Given the description of an element on the screen output the (x, y) to click on. 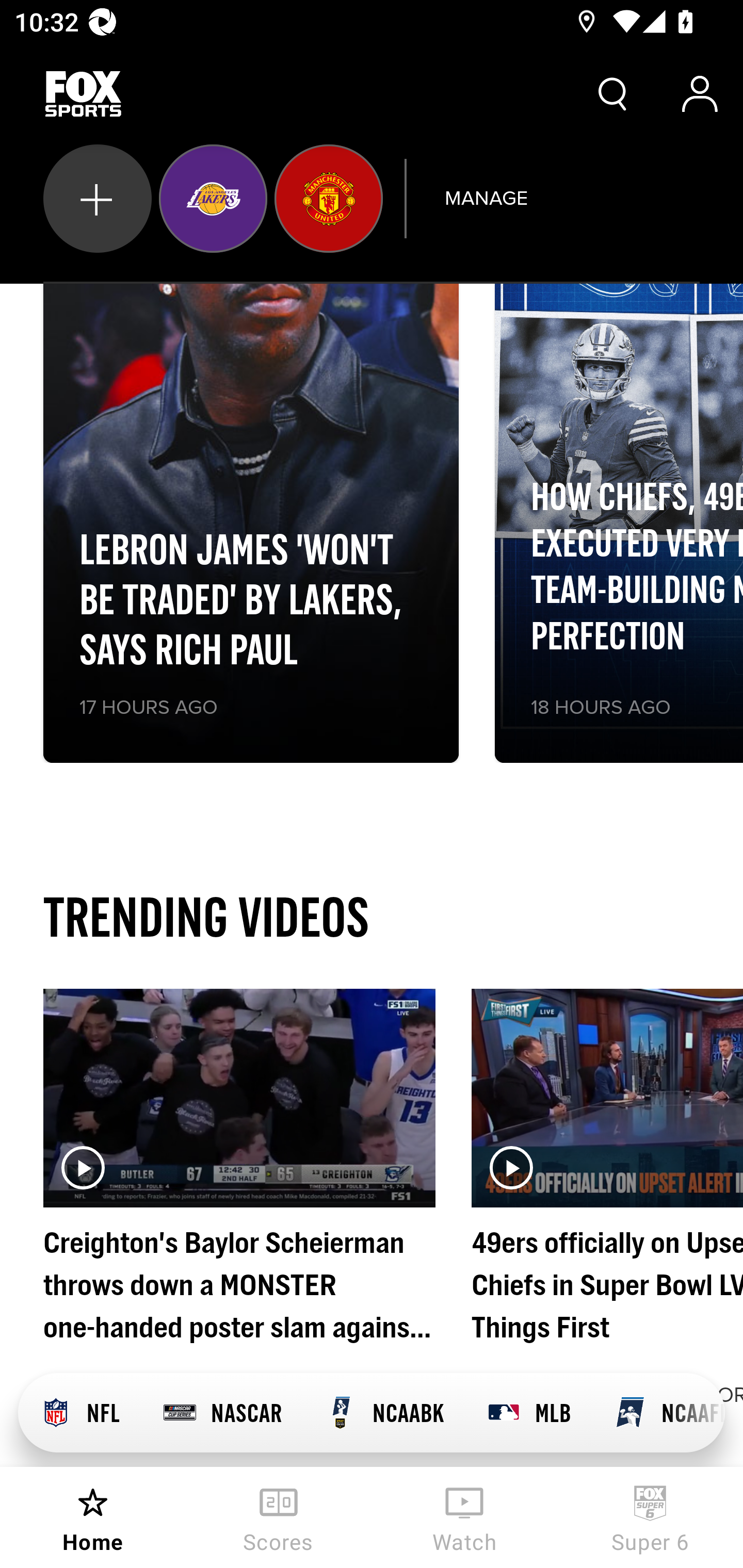
Search (612, 93)
Account (699, 93)
MANAGE (485, 198)
NFL (79, 1412)
NASCAR (222, 1412)
NCAABK (384, 1412)
MLB (528, 1412)
NCAAFB (658, 1412)
Scores (278, 1517)
Watch (464, 1517)
Super 6 (650, 1517)
